Given the description of an element on the screen output the (x, y) to click on. 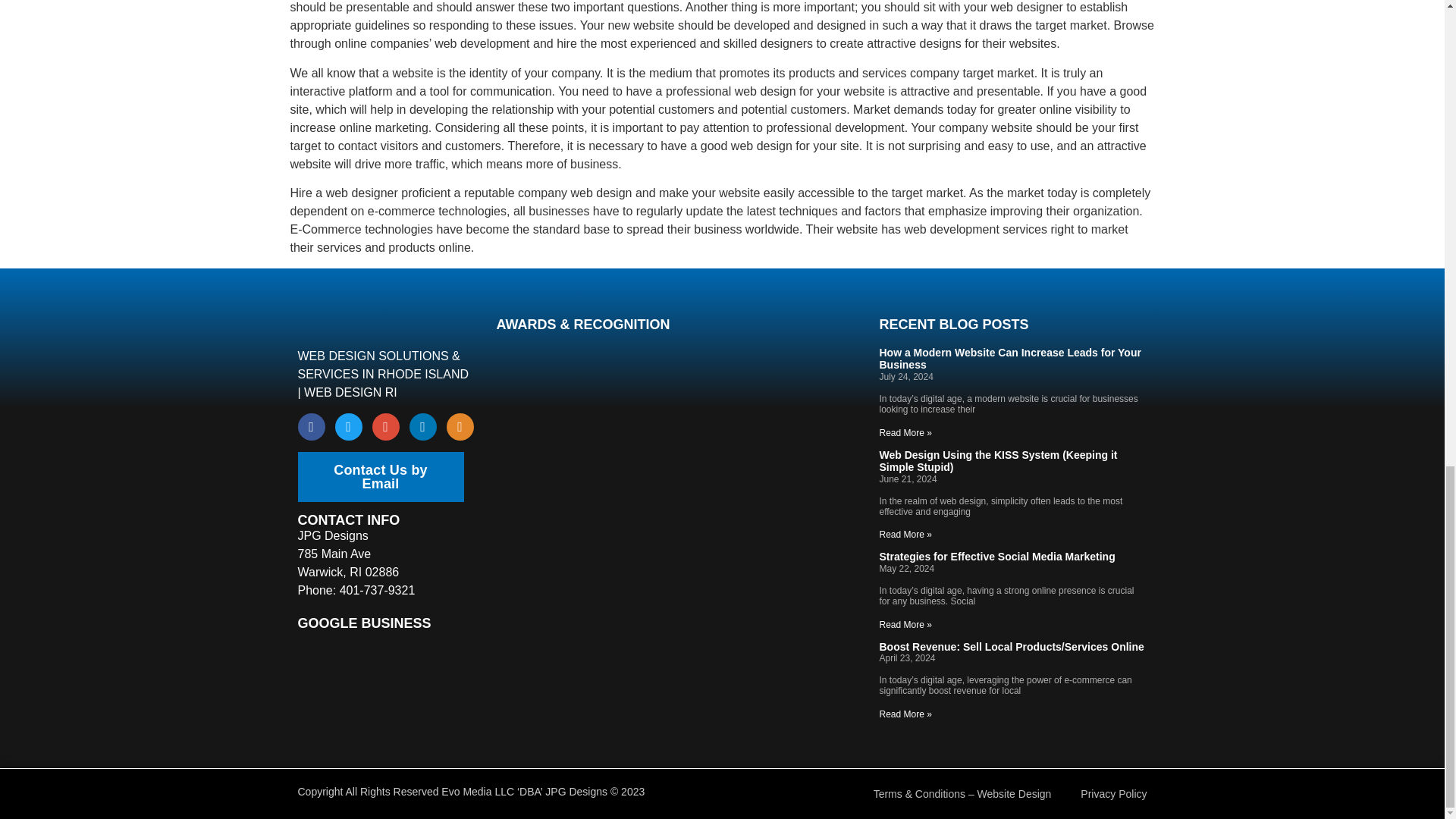
Contact Us by Email (380, 477)
